Given the description of an element on the screen output the (x, y) to click on. 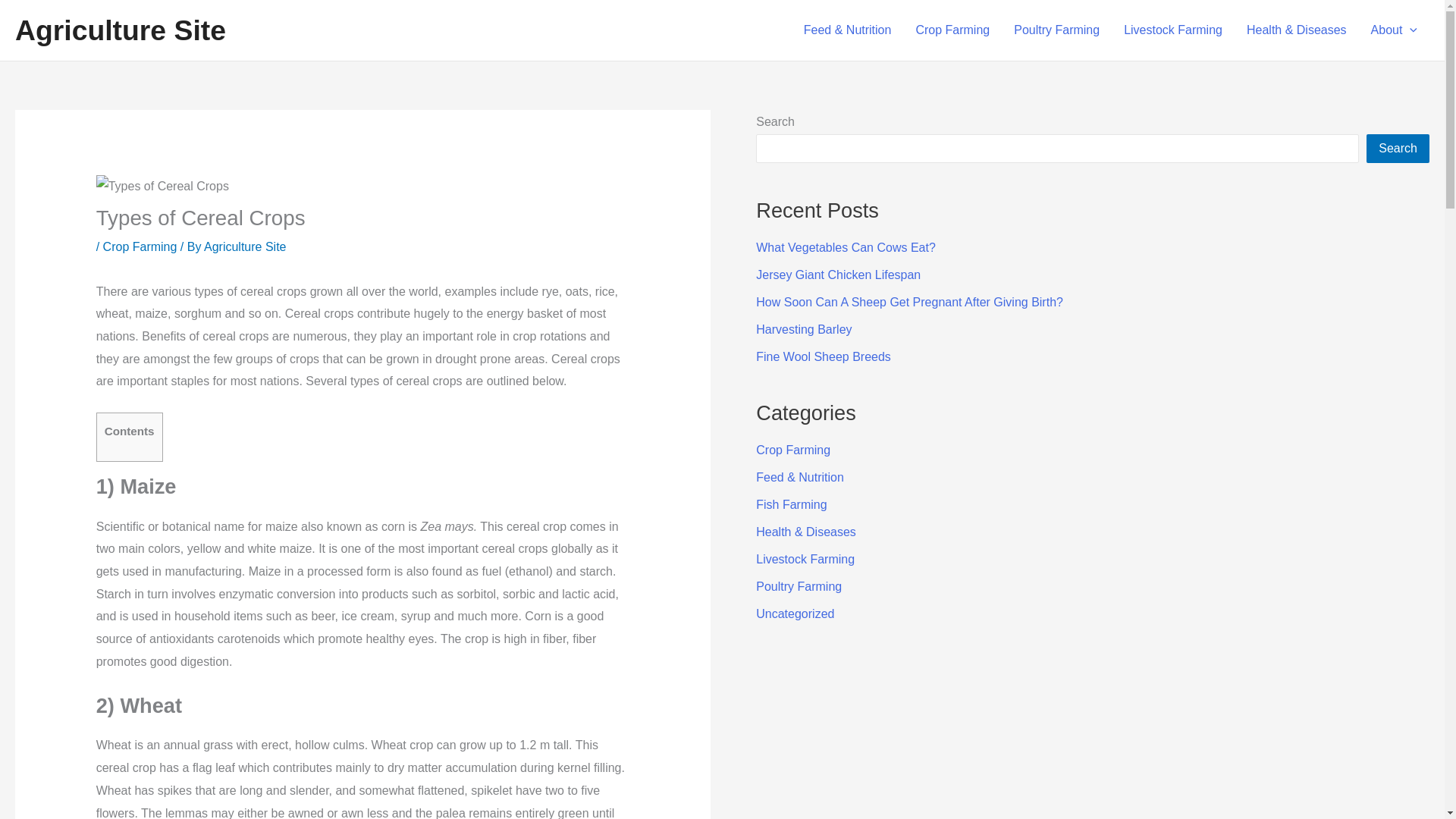
Livestock Farming (1173, 30)
About (1393, 30)
Crop Farming (140, 246)
View all posts by Agriculture Site (244, 246)
Poultry Farming (1056, 30)
Crop Farming (951, 30)
Agriculture Site (119, 29)
Agriculture Site (244, 246)
